Given the description of an element on the screen output the (x, y) to click on. 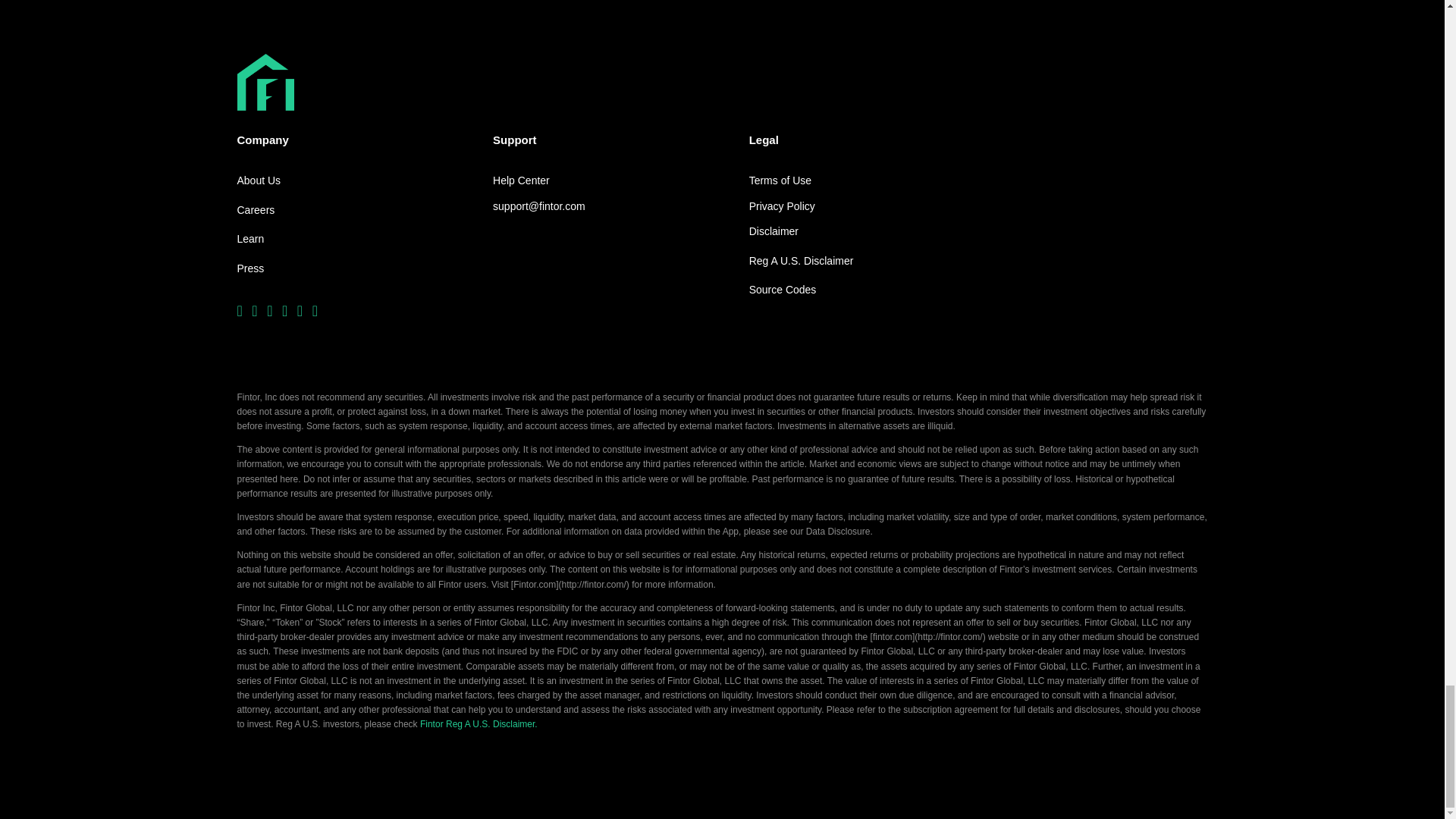
Help Center (521, 180)
Terms of Use (779, 180)
Disclaimer (773, 231)
Source Codes (782, 290)
Careers (255, 210)
Reg A U.S. Disclaimer (801, 261)
Privacy Policy (782, 207)
Fintor Reg A U.S. Disclaimer. (478, 724)
Press (249, 269)
About Us (258, 180)
cropped-cropped-fintor-icon-green-S.png (264, 82)
Learn (249, 239)
